Given the description of an element on the screen output the (x, y) to click on. 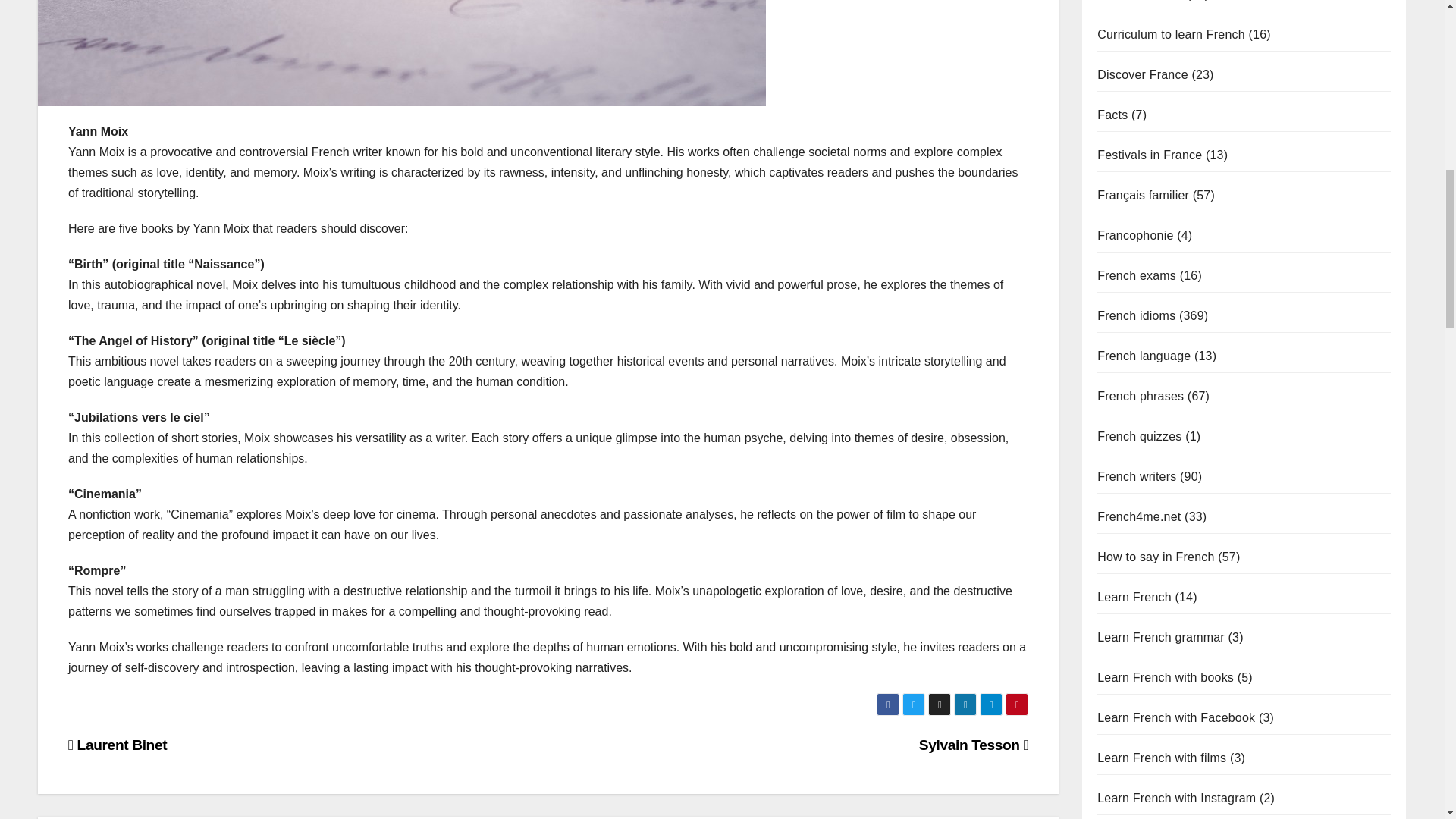
Laurent Binet (117, 744)
Sylvain Tesson (972, 744)
